Given the description of an element on the screen output the (x, y) to click on. 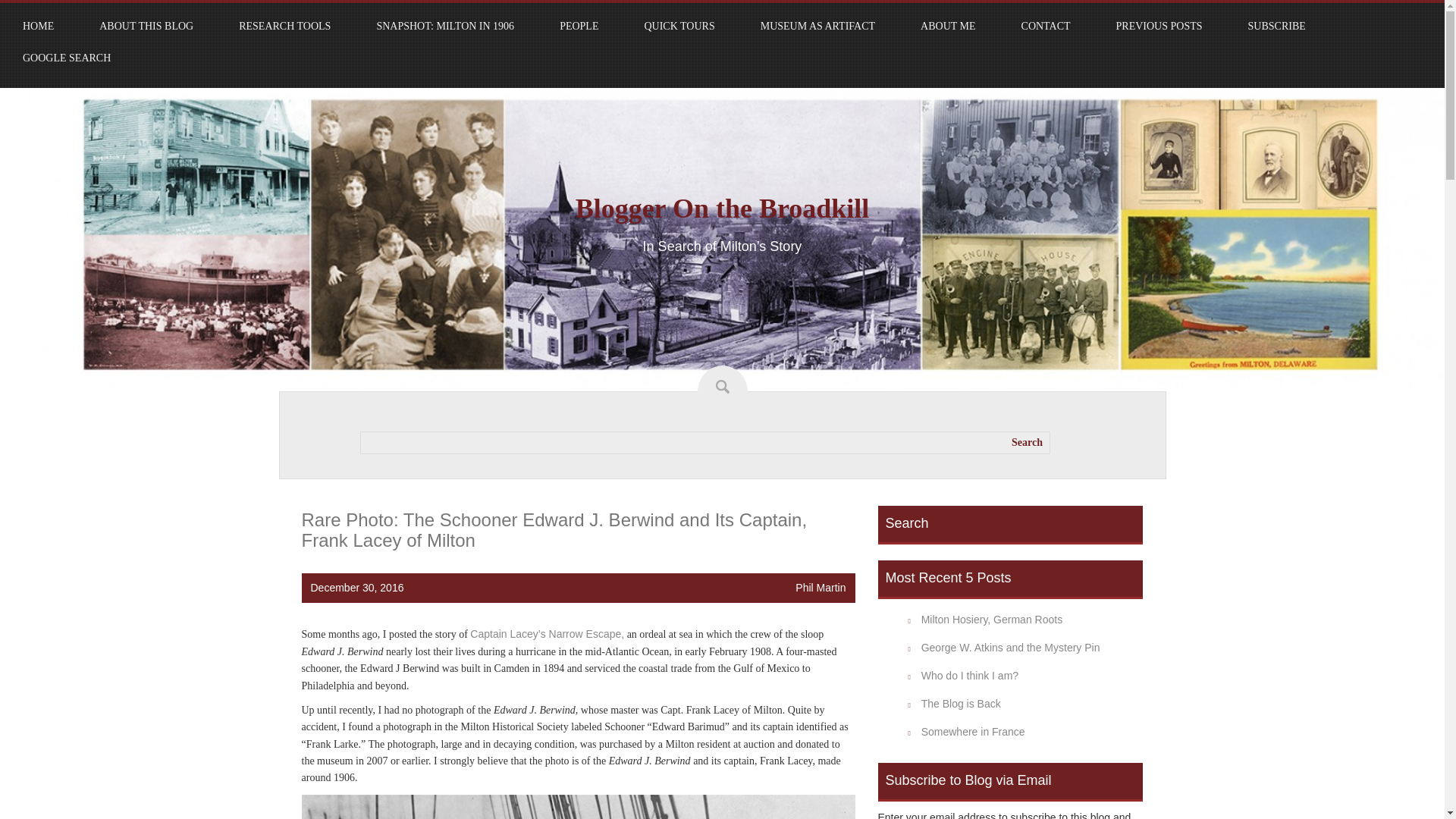
HOME (38, 26)
ABOUT THIS BLOG (146, 26)
PEOPLE (578, 26)
SNAPSHOT: MILTON IN 1906 (444, 26)
RESEARCH TOOLS (284, 26)
